Given the description of an element on the screen output the (x, y) to click on. 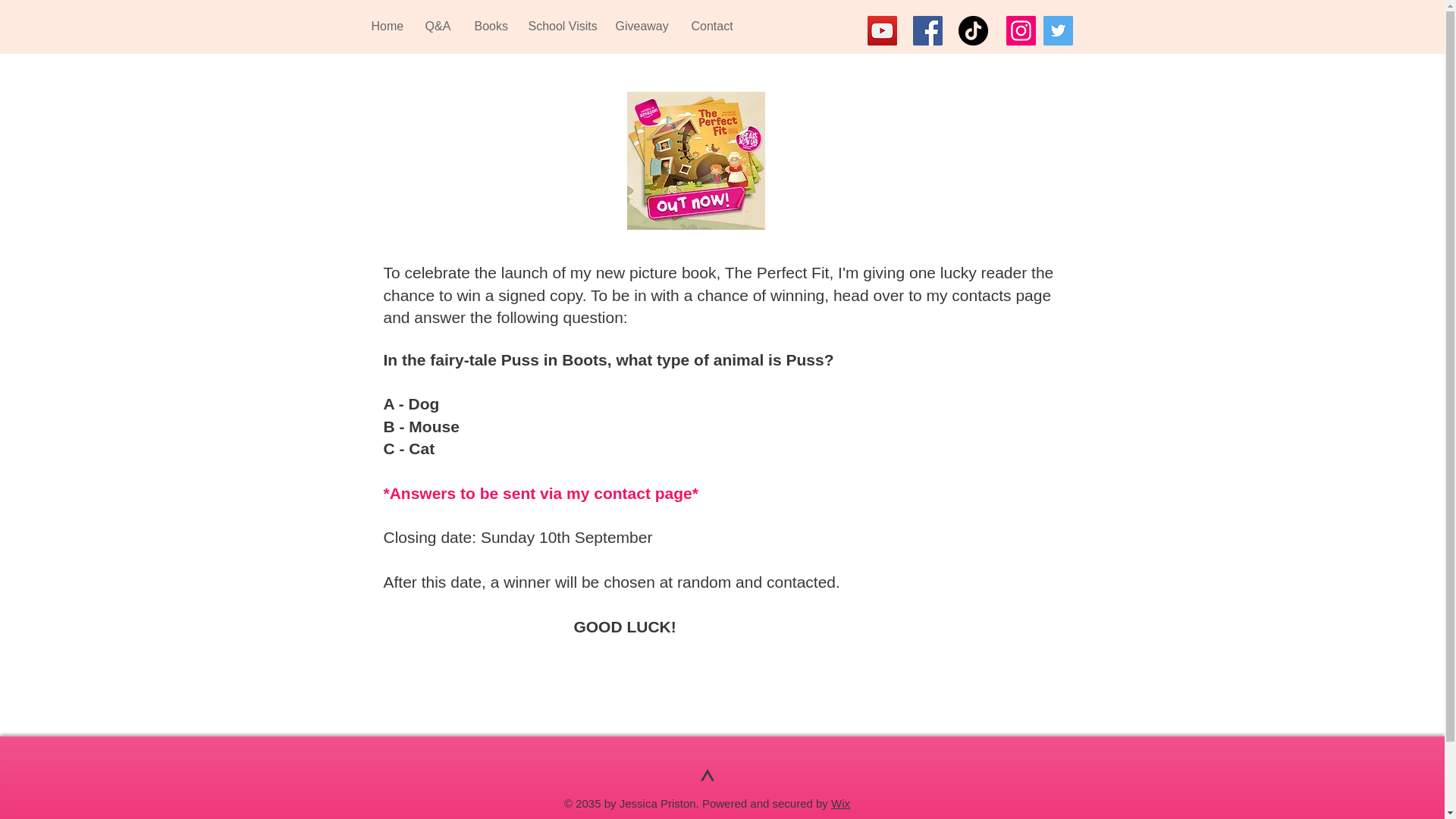
Contact (710, 26)
Wix (840, 802)
Home (385, 26)
Giveaway (641, 26)
Books (489, 26)
School Visits (560, 26)
